Given the description of an element on the screen output the (x, y) to click on. 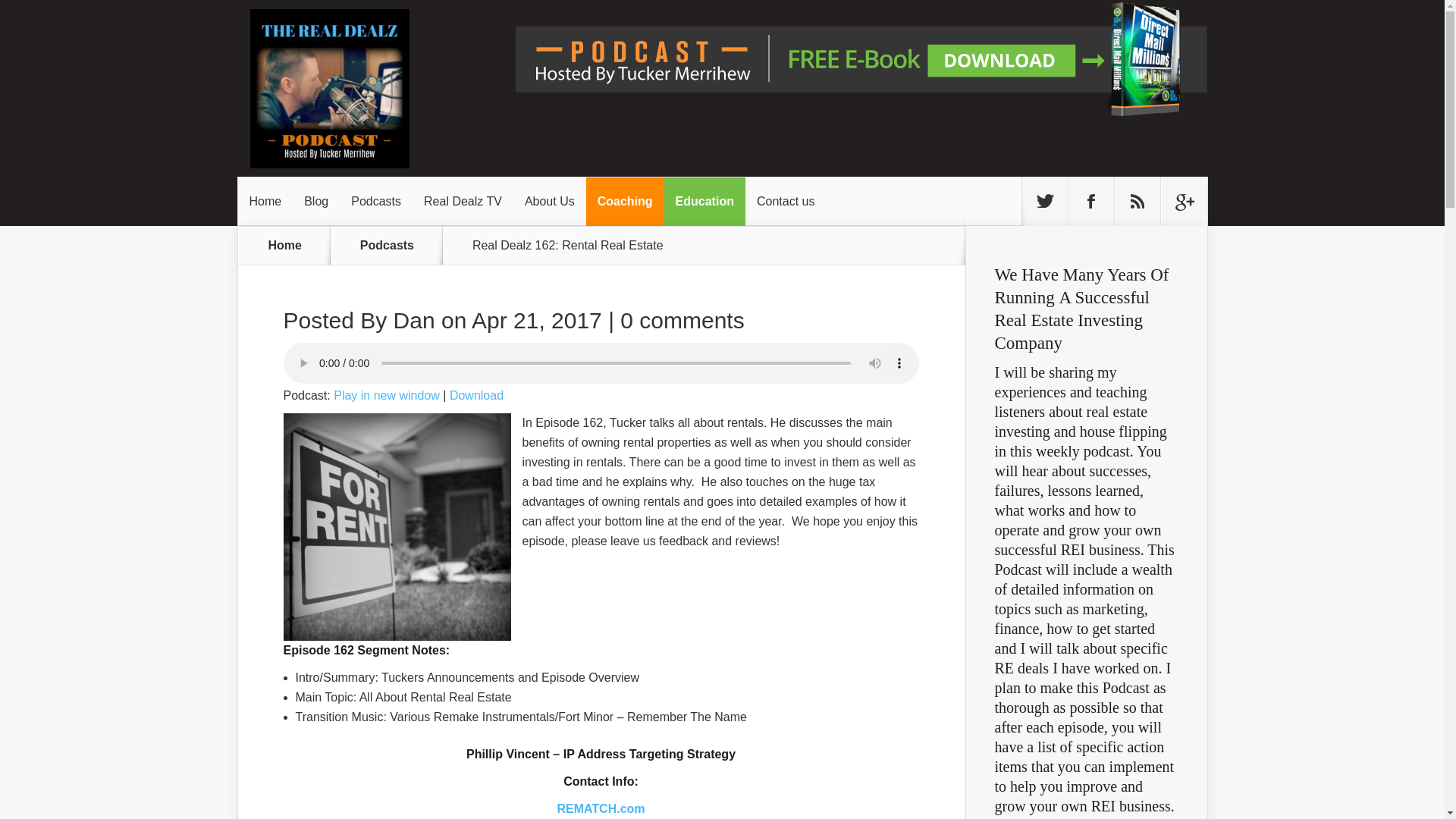
Podcasts (395, 245)
Blog (315, 201)
Coaching (624, 201)
Play in new window (386, 395)
Home (266, 201)
0 comments (682, 319)
Education (704, 201)
Home (285, 245)
Download (476, 395)
Subscribe To Rss Feed (1137, 201)
Play in new window (386, 395)
REMATCH.com (600, 808)
Real Dealz TV (462, 201)
Contact us (785, 201)
Dan (414, 319)
